Given the description of an element on the screen output the (x, y) to click on. 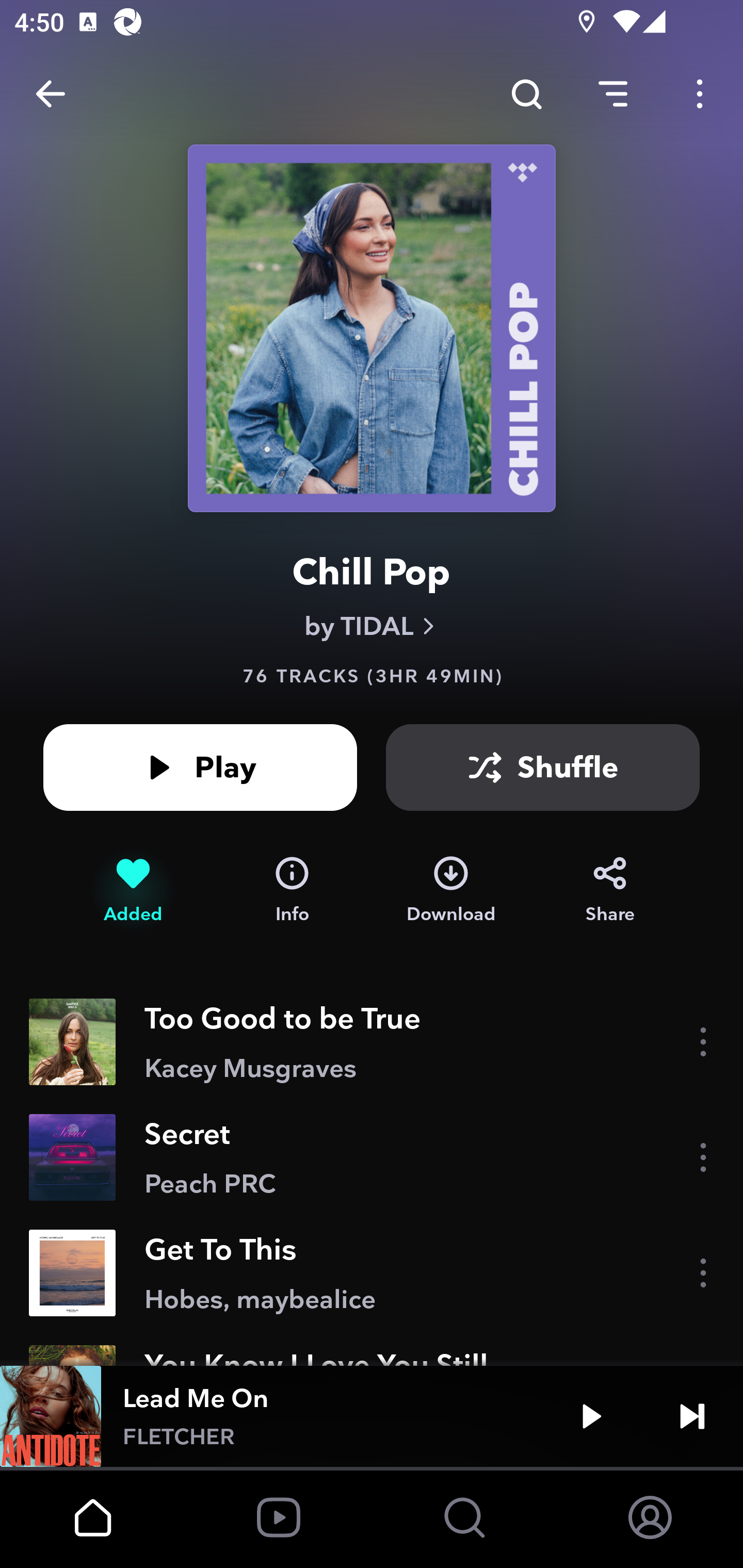
Back (50, 93)
Search (525, 93)
Sorting (612, 93)
Options (699, 93)
by TIDAL (371, 625)
Play (200, 767)
Shuffle (542, 767)
Added (132, 890)
Info (291, 890)
Download (450, 890)
Share (609, 890)
Too Good to be True Kacey Musgraves (371, 1041)
Secret Peach PRC (371, 1157)
Get To This Hobes, maybealice (371, 1273)
Lead Me On FLETCHER Play (371, 1416)
Play (590, 1416)
